Given the description of an element on the screen output the (x, y) to click on. 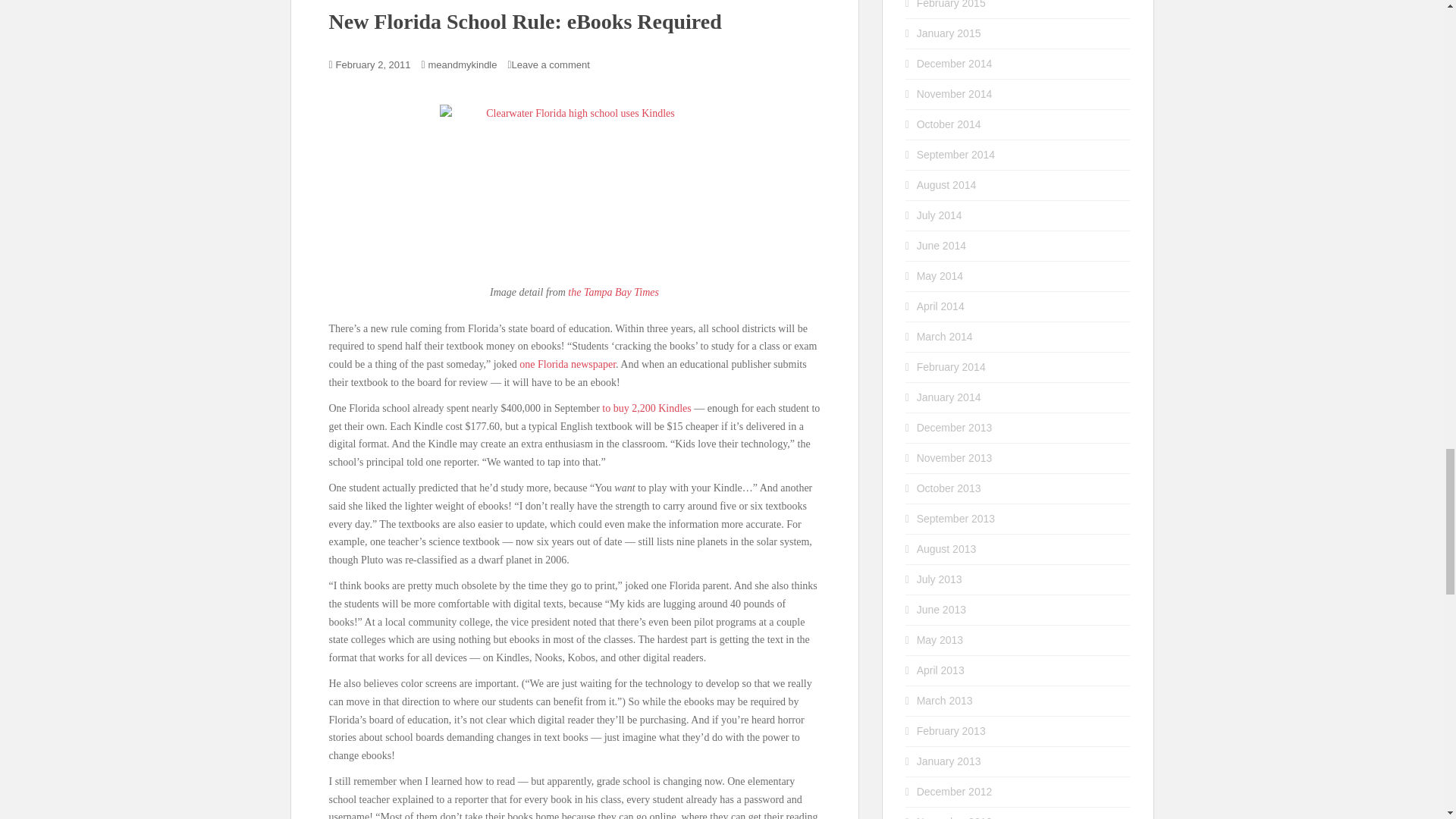
Leave a comment (550, 64)
to buy 2,200 Kindles (646, 408)
one Florida newspaper (567, 364)
meandmykindle (462, 64)
New Florida School Rule: eBooks Required (525, 21)
the Tampa Bay Times (613, 292)
Clearwater Florida high school uses Kindles (574, 184)
February 2, 2011 (373, 64)
